Given the description of an element on the screen output the (x, y) to click on. 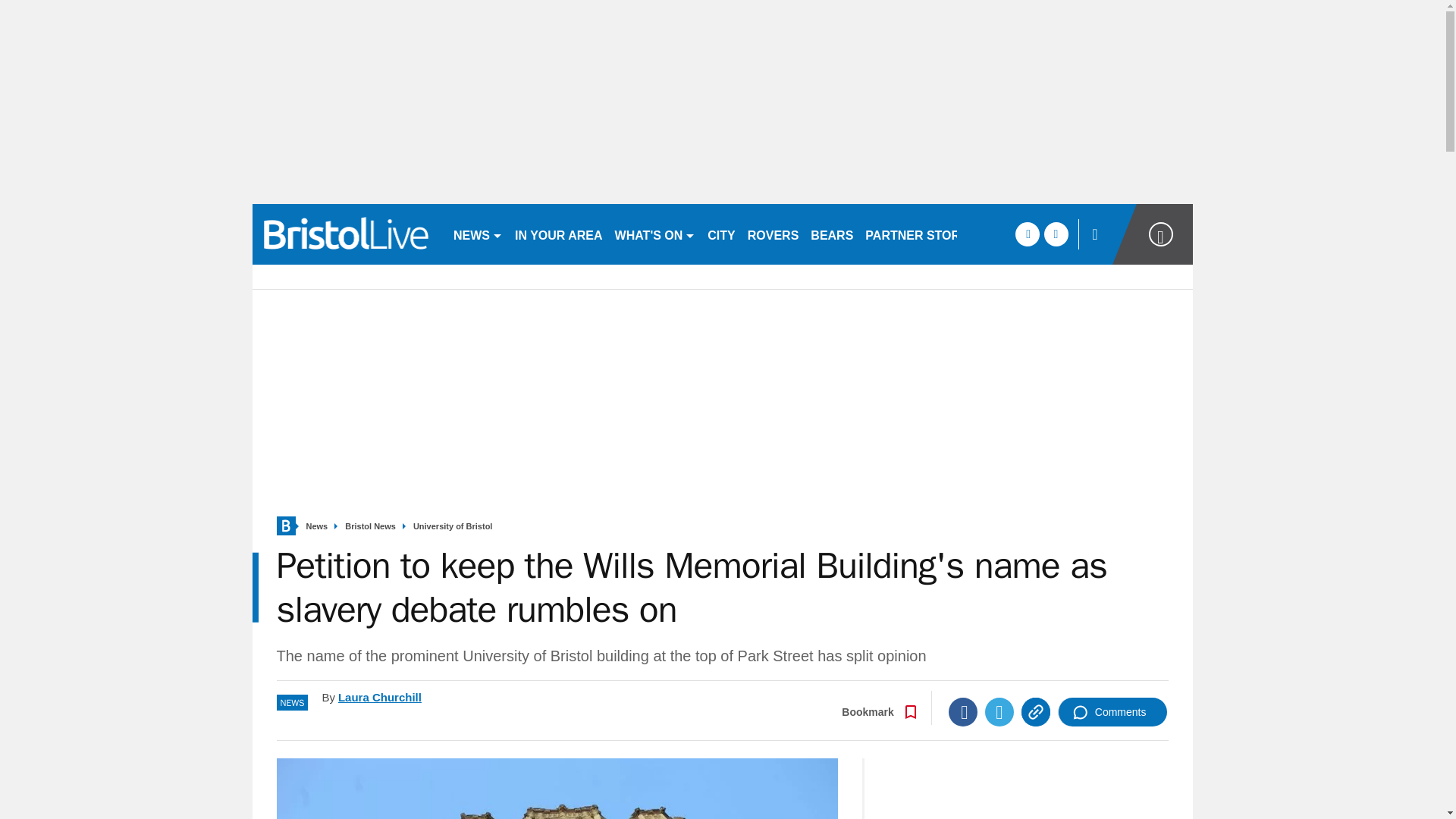
twitter (1055, 233)
ROVERS (773, 233)
IN YOUR AREA (558, 233)
PARTNER STORIES (922, 233)
NEWS (477, 233)
WHAT'S ON (654, 233)
BEARS (832, 233)
Comments (1112, 711)
facebook (1026, 233)
Twitter (999, 711)
